Given the description of an element on the screen output the (x, y) to click on. 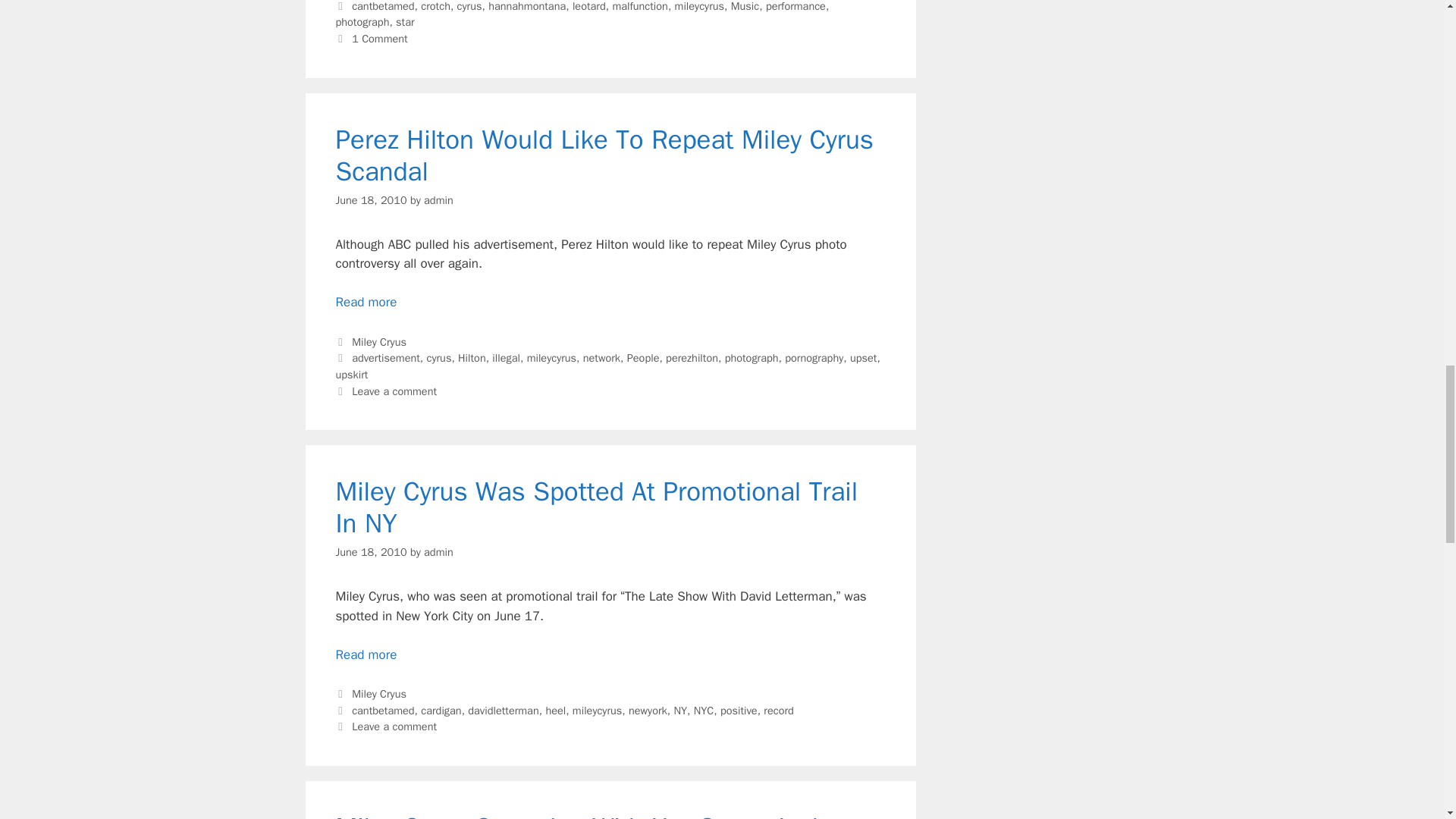
View all posts by admin (437, 551)
Perez Hilton Would Like To Repeat Miley Cyrus Scandal (365, 302)
View all posts by admin (437, 200)
Miley Cyrus Was Spotted At Promotional Trail In NY (365, 654)
